Given the description of an element on the screen output the (x, y) to click on. 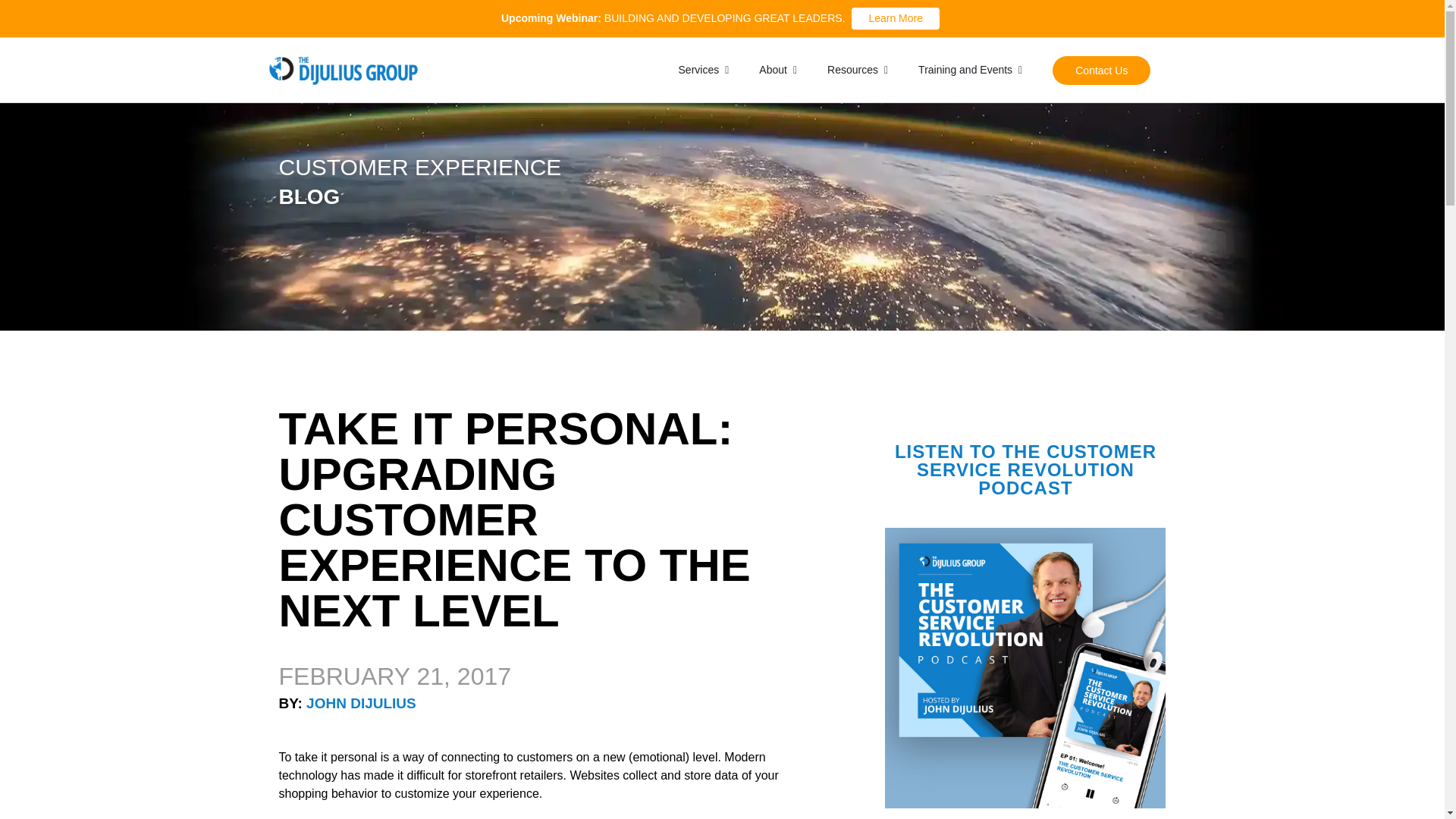
Resources (857, 69)
Posts by John DiJulius (360, 703)
Learn More (895, 18)
JOHN DIJULIUS (360, 703)
Services (703, 69)
Contact Us (1101, 70)
About (777, 69)
Training and Events (970, 69)
